Given the description of an element on the screen output the (x, y) to click on. 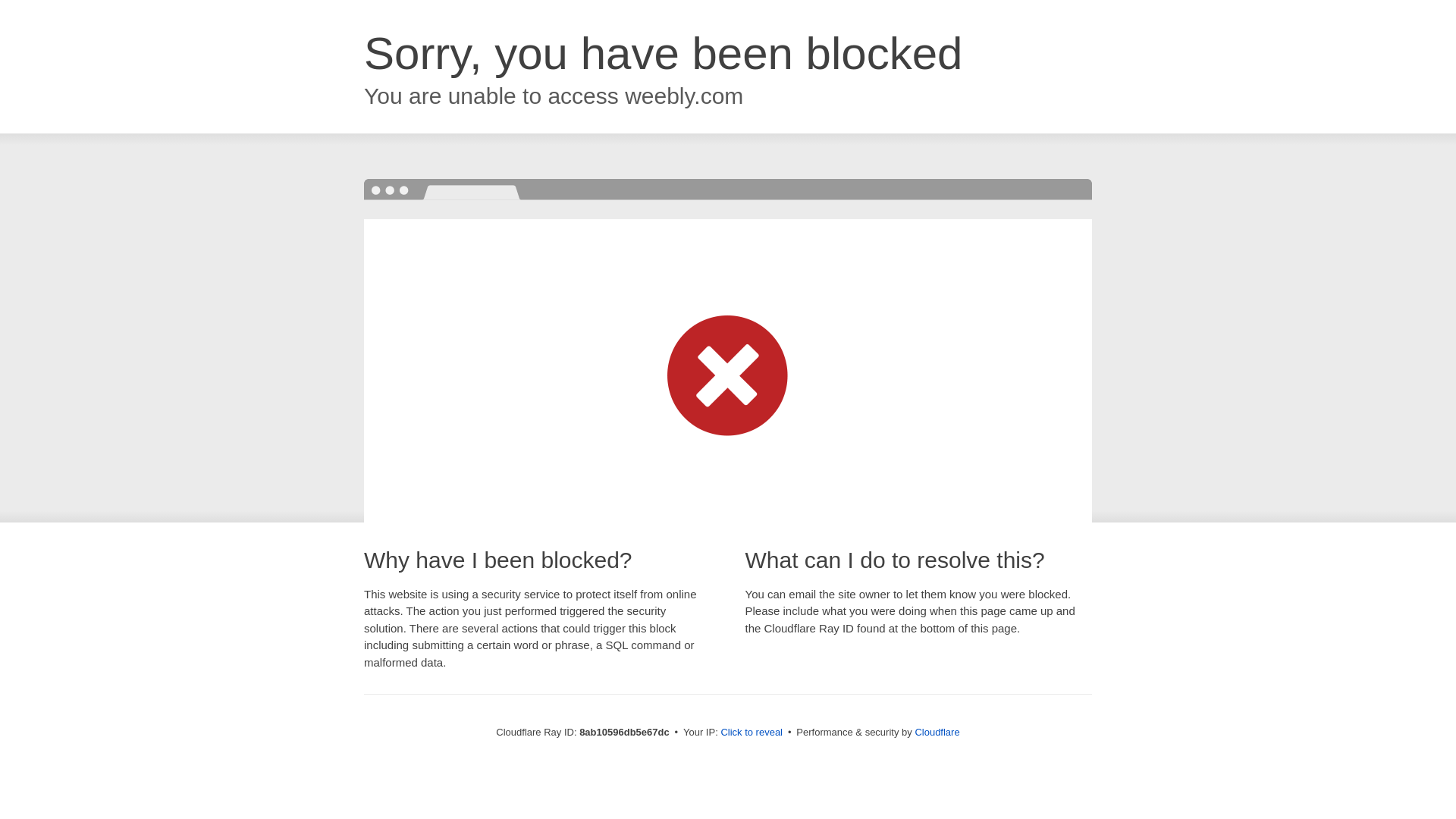
Click to reveal (751, 732)
Cloudflare (936, 731)
